Given the description of an element on the screen output the (x, y) to click on. 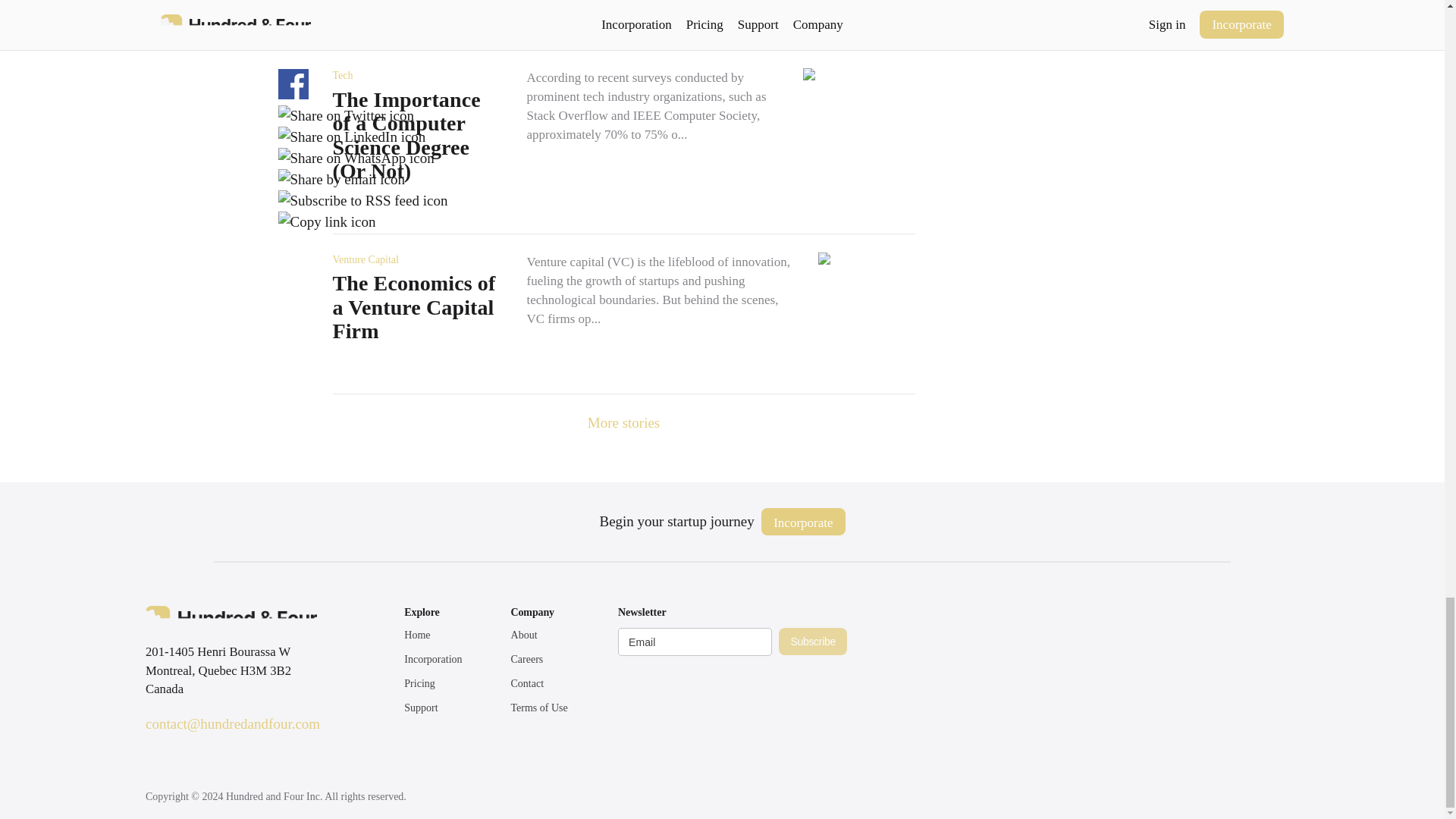
About (524, 634)
Home (416, 634)
Careers (527, 659)
More stories (624, 422)
Pricing (418, 683)
Support (421, 707)
Incorporate (802, 521)
Incorporation (432, 659)
